Given the description of an element on the screen output the (x, y) to click on. 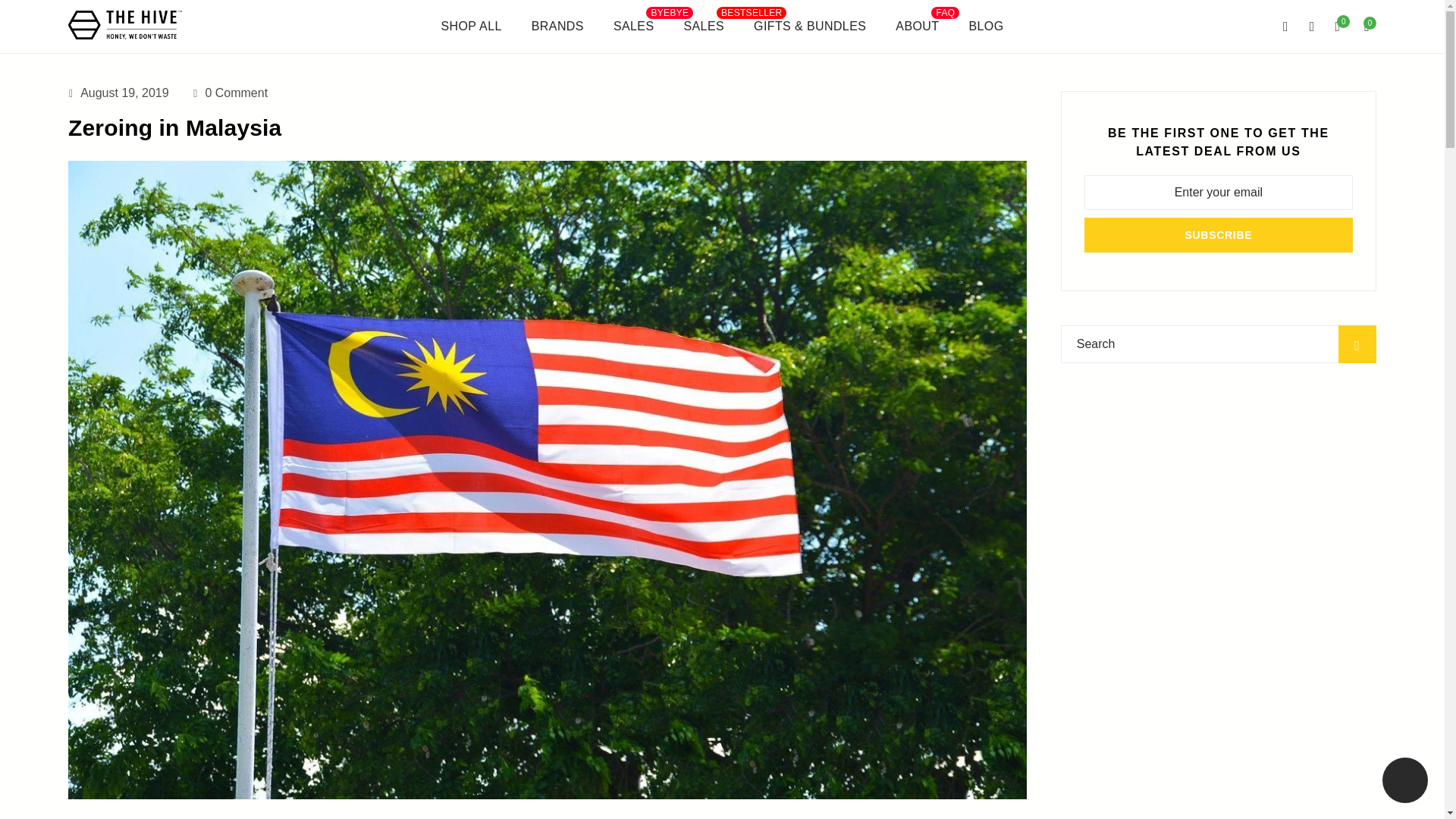
Shopify online store chat (1404, 781)
